Given the description of an element on the screen output the (x, y) to click on. 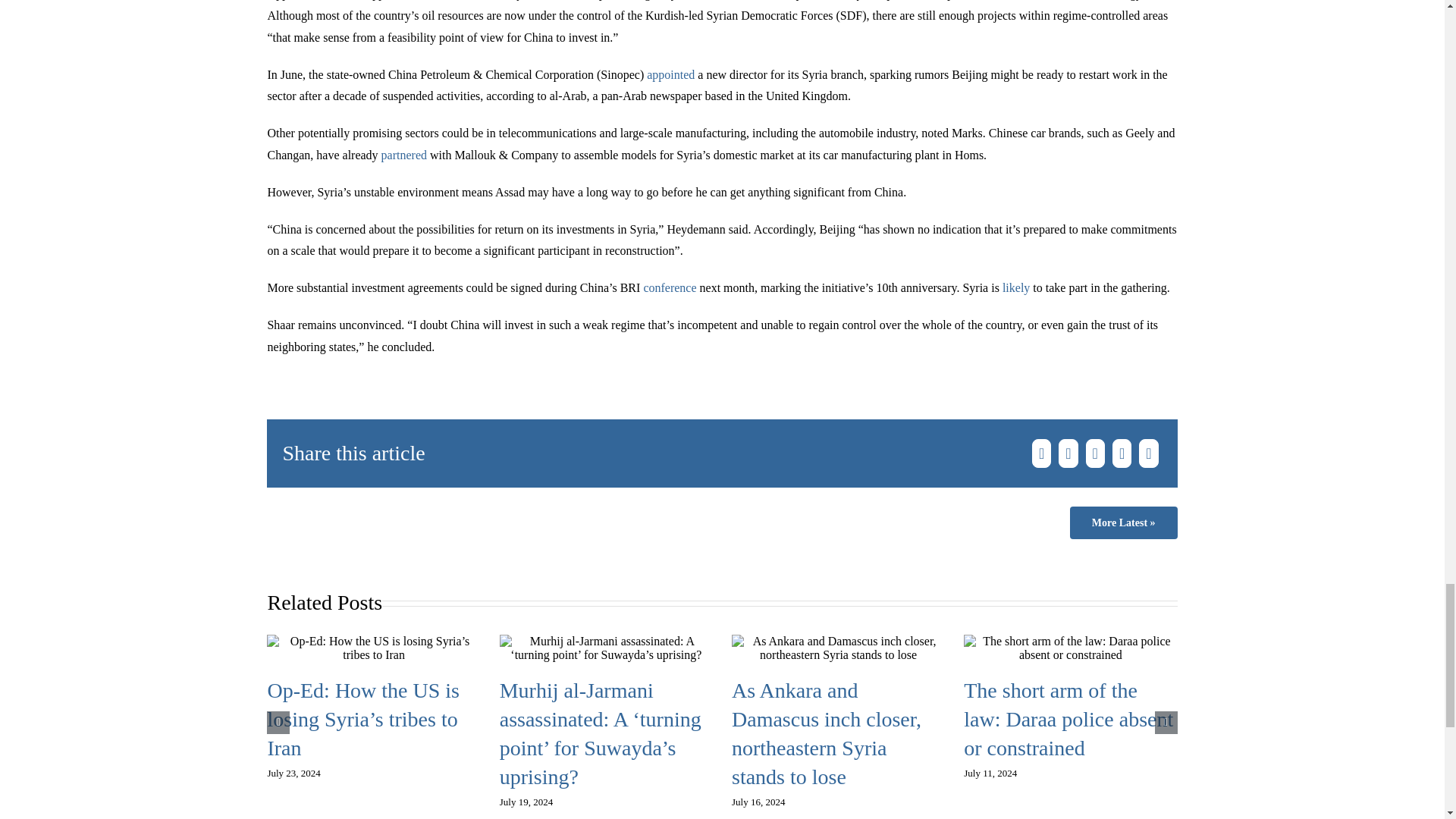
The short arm of the law: Daraa police absent or constrained (1068, 719)
